Given the description of an element on the screen output the (x, y) to click on. 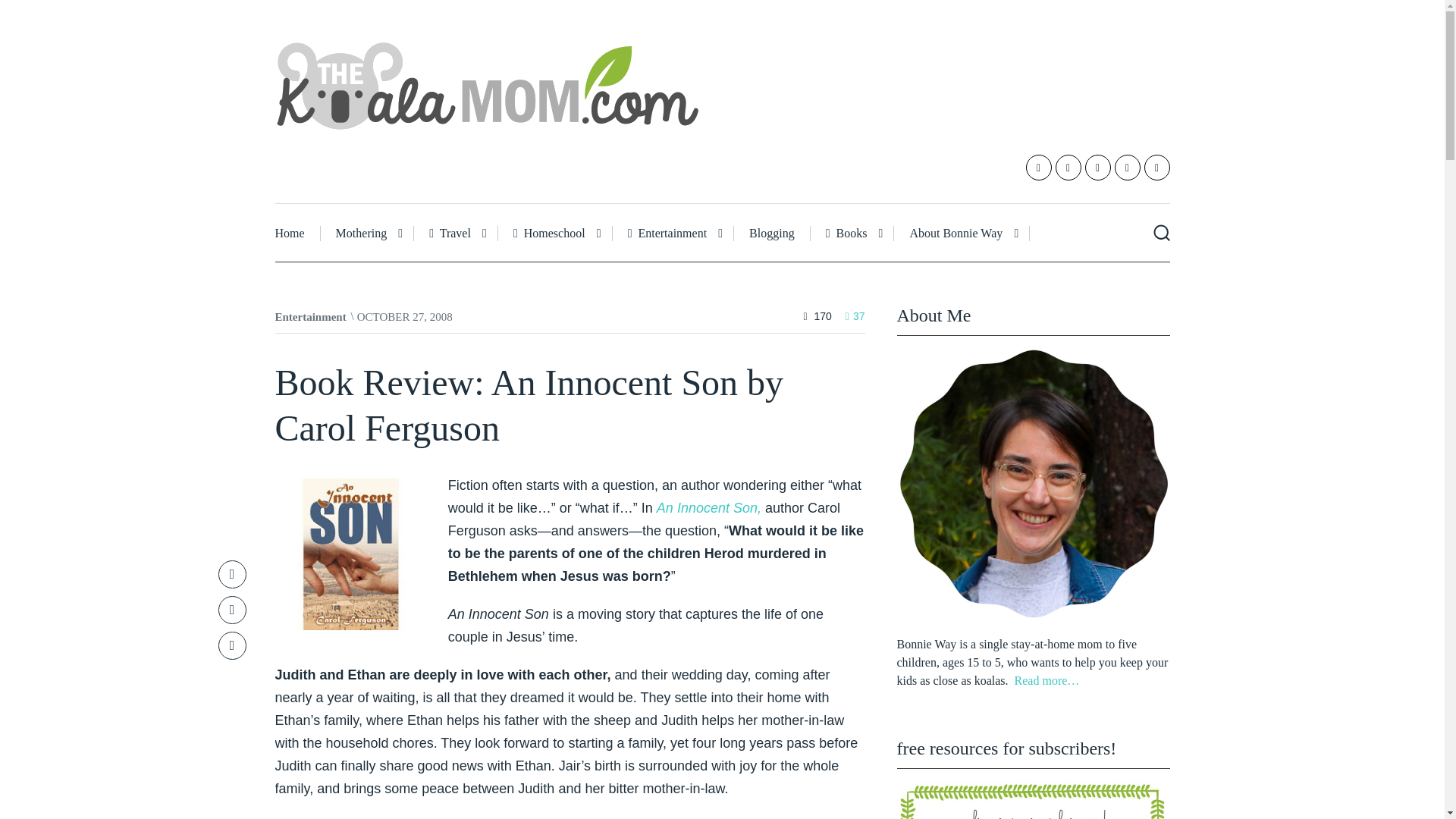
Books (852, 233)
Home (297, 233)
free resources for subscribers! (1032, 799)
Mothering (367, 233)
Entertainment (672, 233)
View all posts in Entertainment (310, 316)
Travel (455, 233)
Like (854, 316)
Homeschool (554, 233)
